Given the description of an element on the screen output the (x, y) to click on. 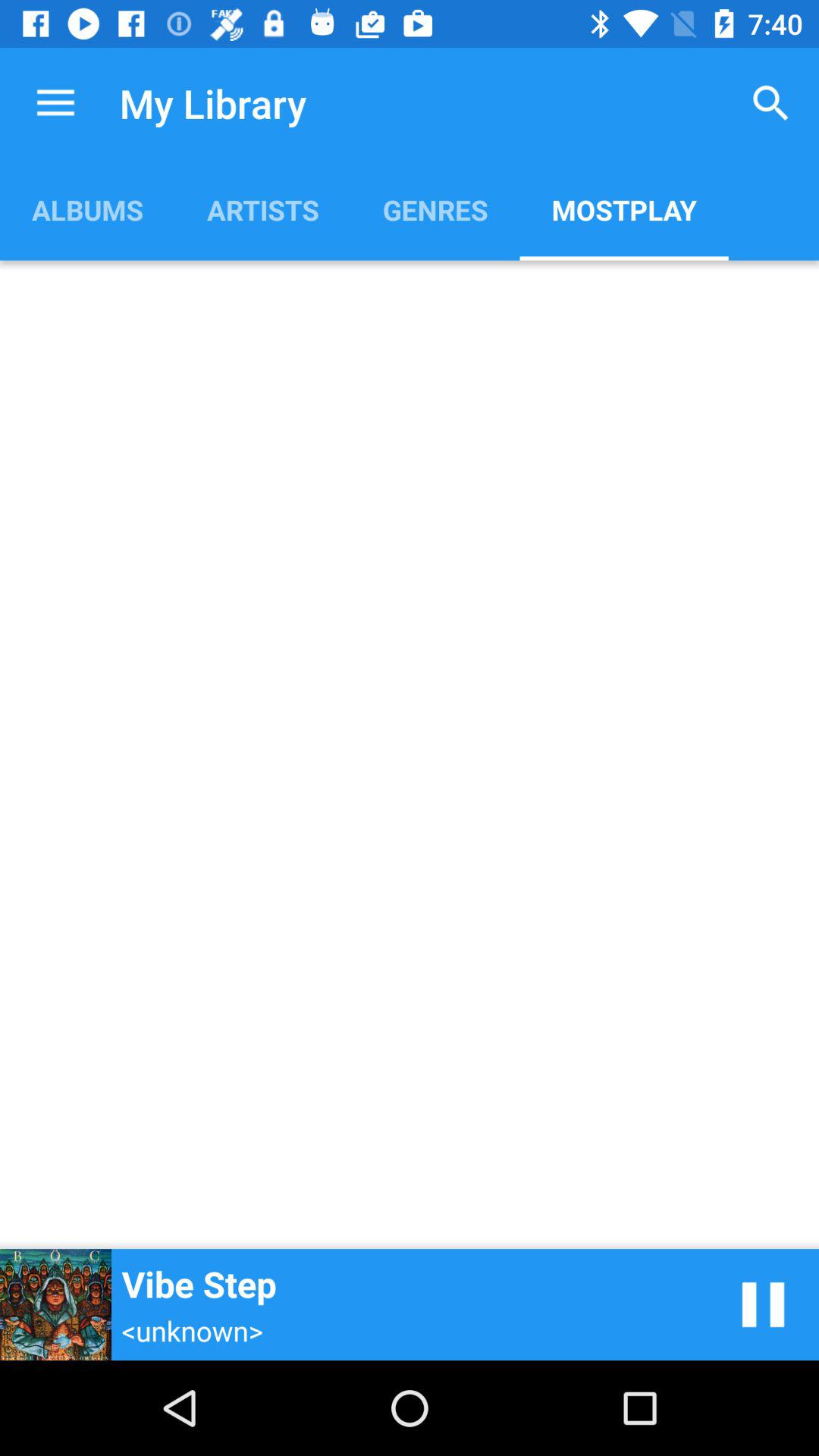
choose item at the center (409, 754)
